Given the description of an element on the screen output the (x, y) to click on. 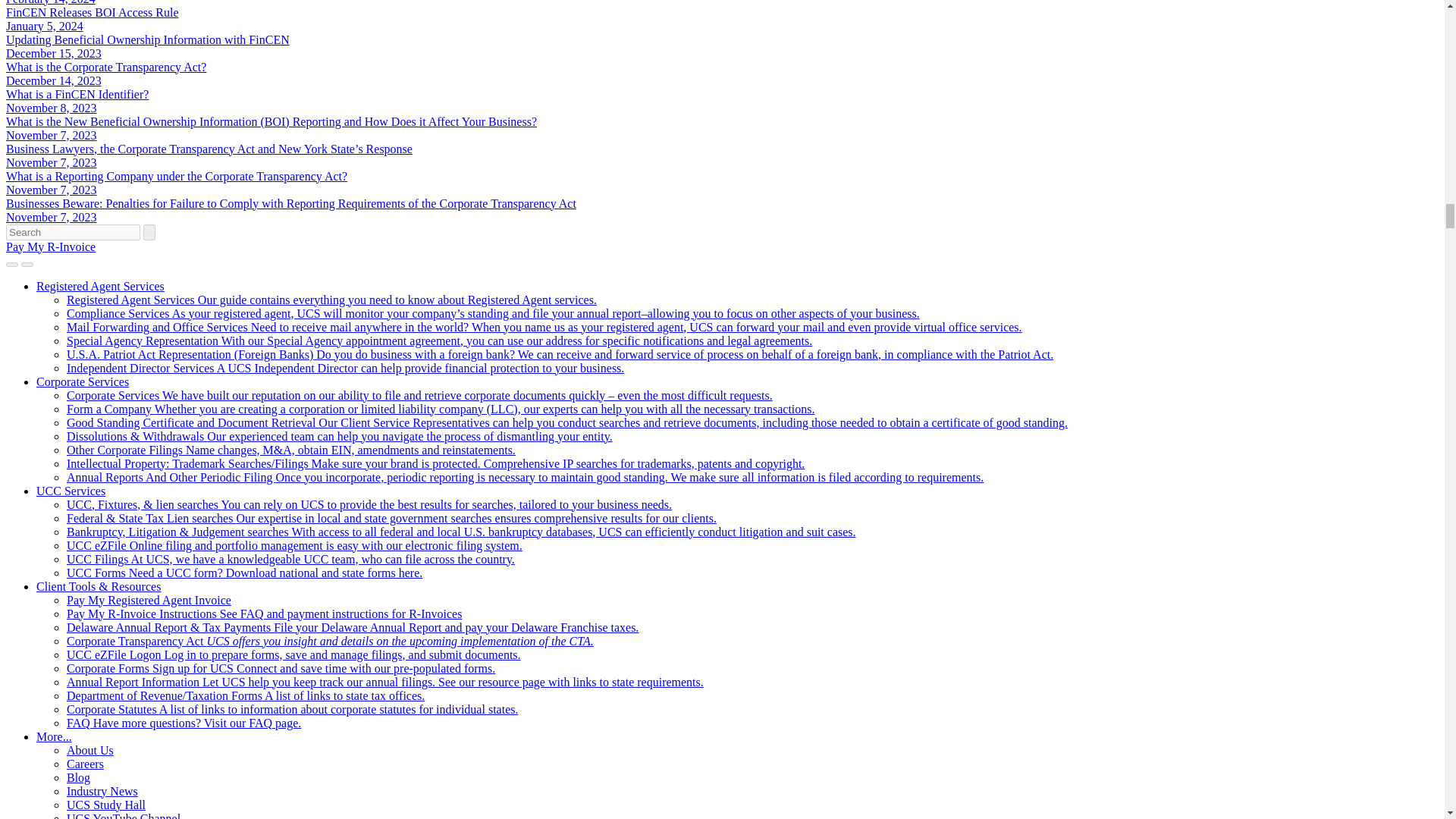
Registered Agent Services (100, 285)
Corporate Services (82, 380)
UCC Services (70, 490)
Pay My R-Invoice (50, 245)
